Given the description of an element on the screen output the (x, y) to click on. 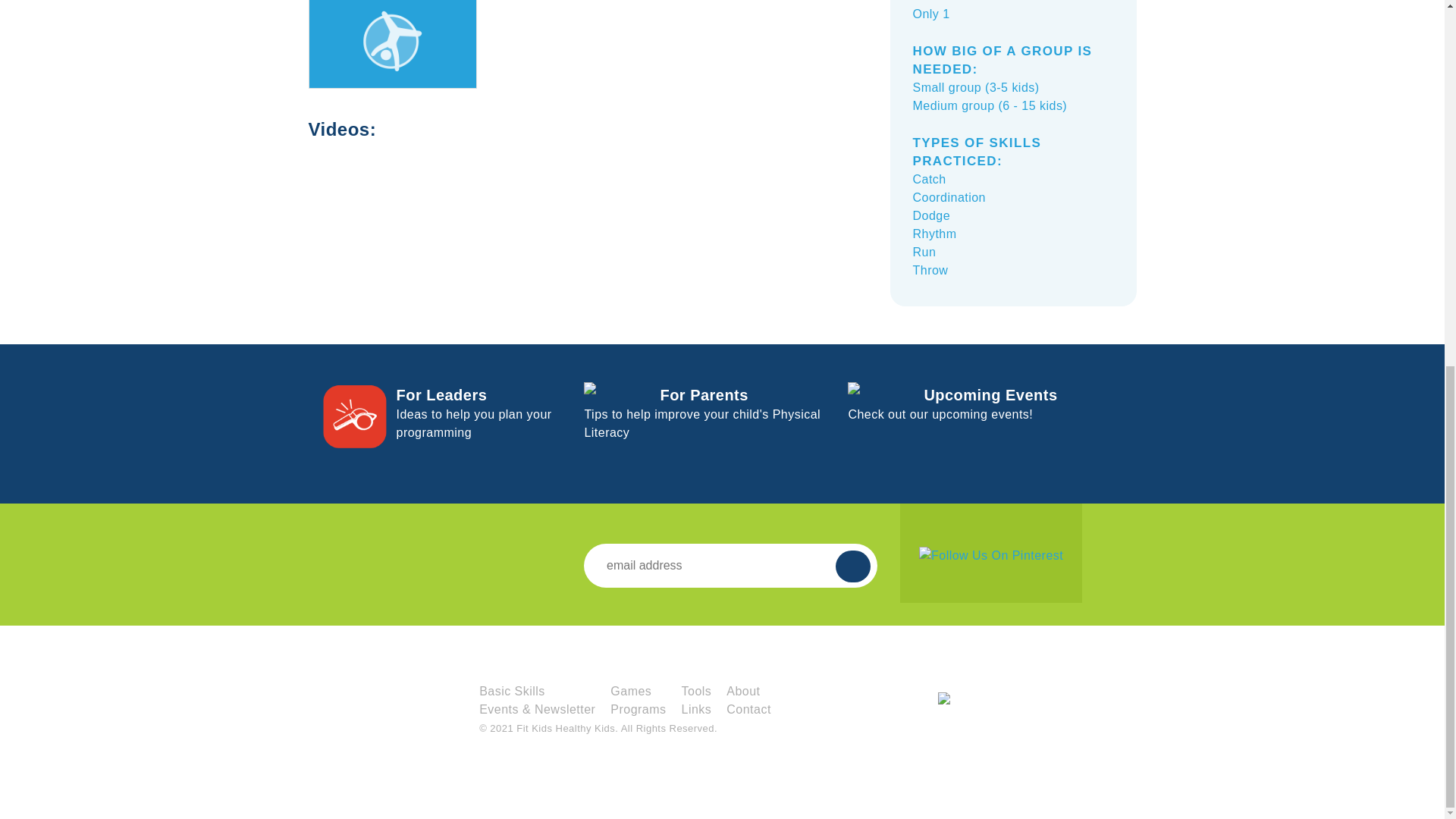
Links (696, 708)
Subscribe (852, 566)
Subscribe (852, 566)
About (743, 690)
Games (630, 690)
Programs (637, 708)
Tools (696, 690)
Contact (748, 708)
Basic Skills (473, 413)
